Given the description of an element on the screen output the (x, y) to click on. 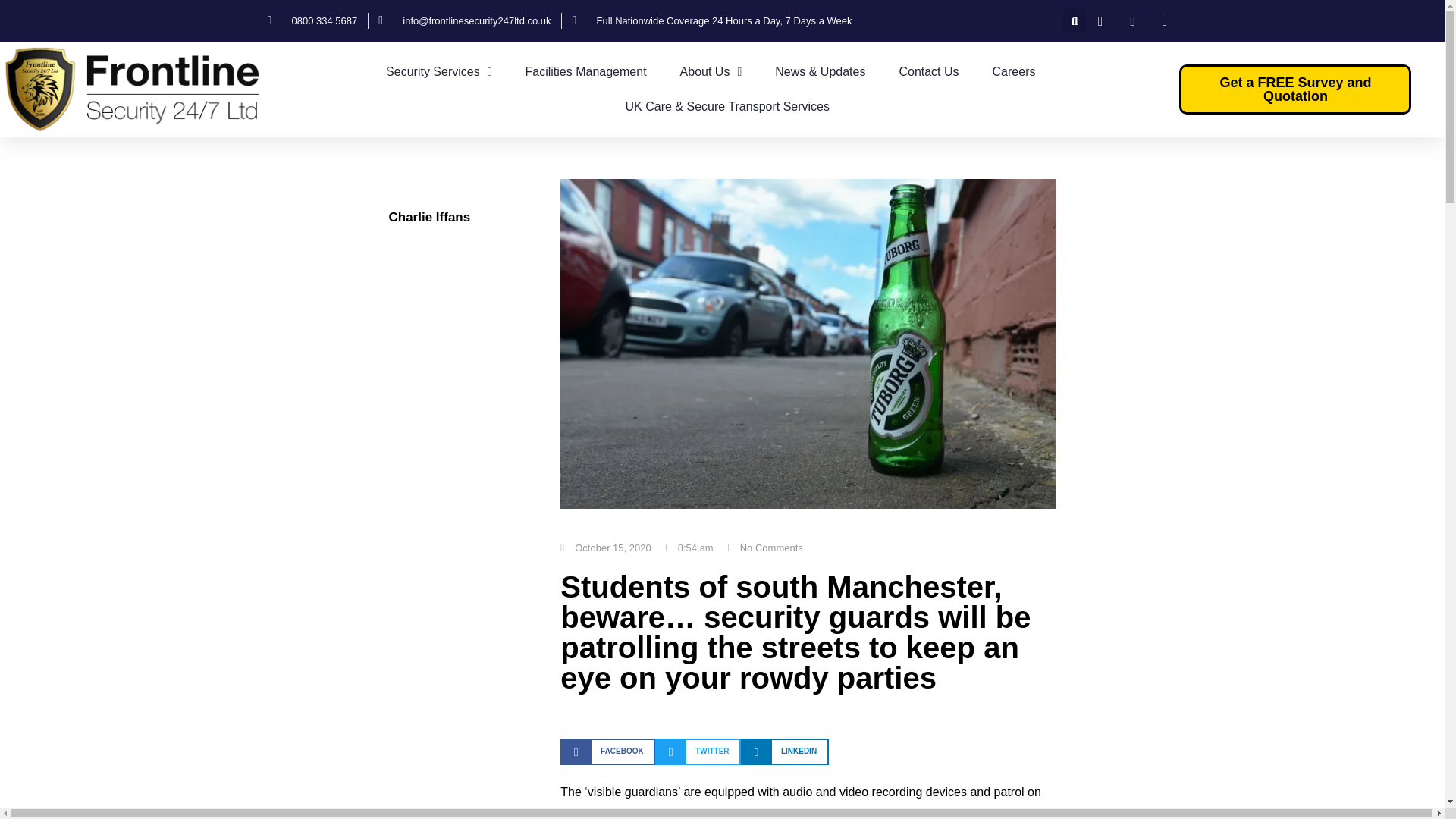
About Us (710, 71)
Full Nationwide Coverage 24 Hours a Day, 7 Days a Week (711, 21)
Careers (1013, 71)
Facilities Management (585, 71)
Security Services (438, 71)
0800 334 5687 (311, 21)
Contact Us (928, 71)
